Given the description of an element on the screen output the (x, y) to click on. 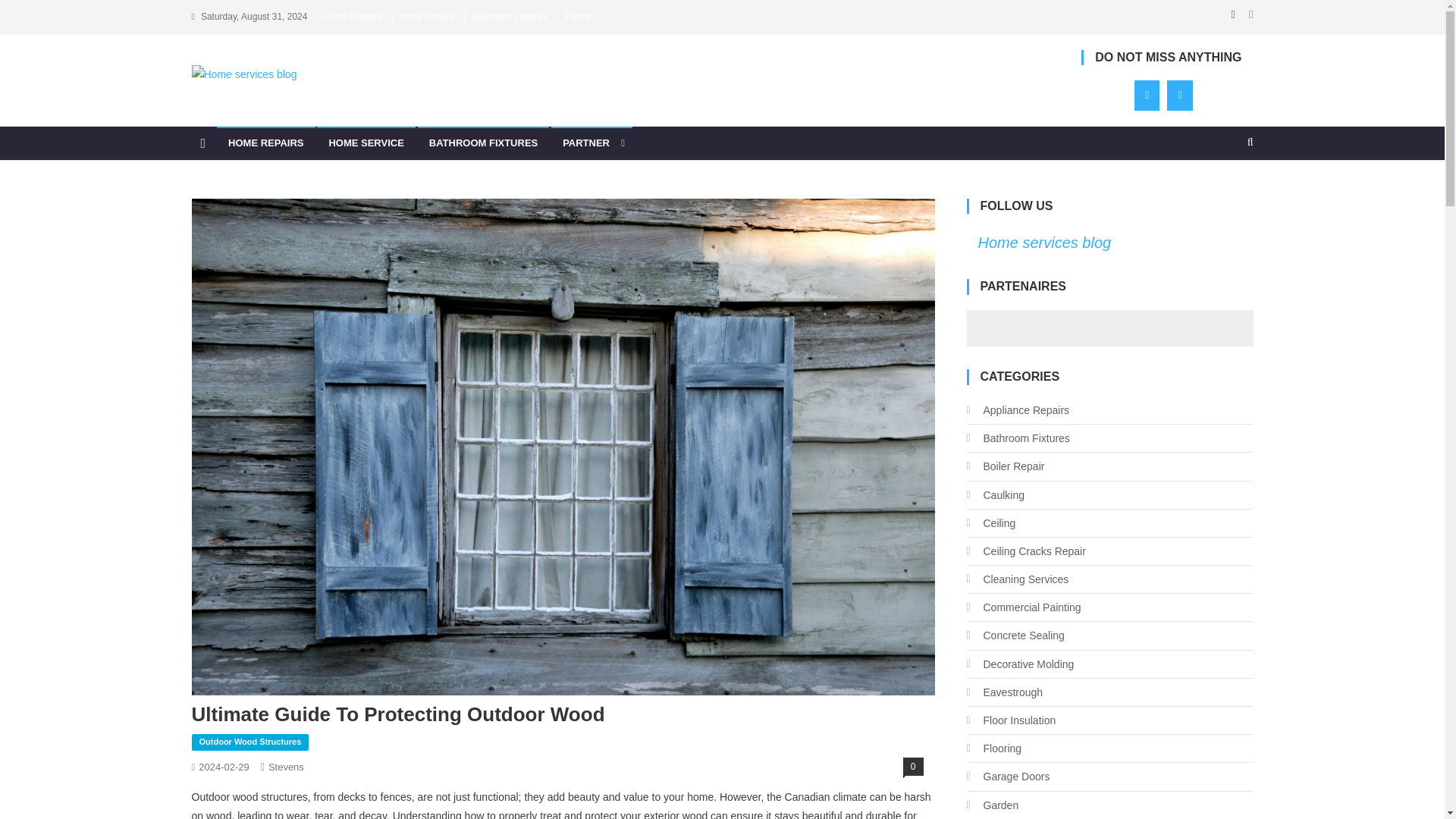
HOME SERVICE (365, 142)
Stevens (285, 767)
Outdoor Wood Structures (249, 742)
Partner (580, 16)
BATHROOM FIXTURES (482, 142)
Search (1221, 192)
Bathroom Fixtures (509, 16)
2024-02-29 (223, 767)
HOME REPAIRS (265, 142)
home service (427, 16)
